Given the description of an element on the screen output the (x, y) to click on. 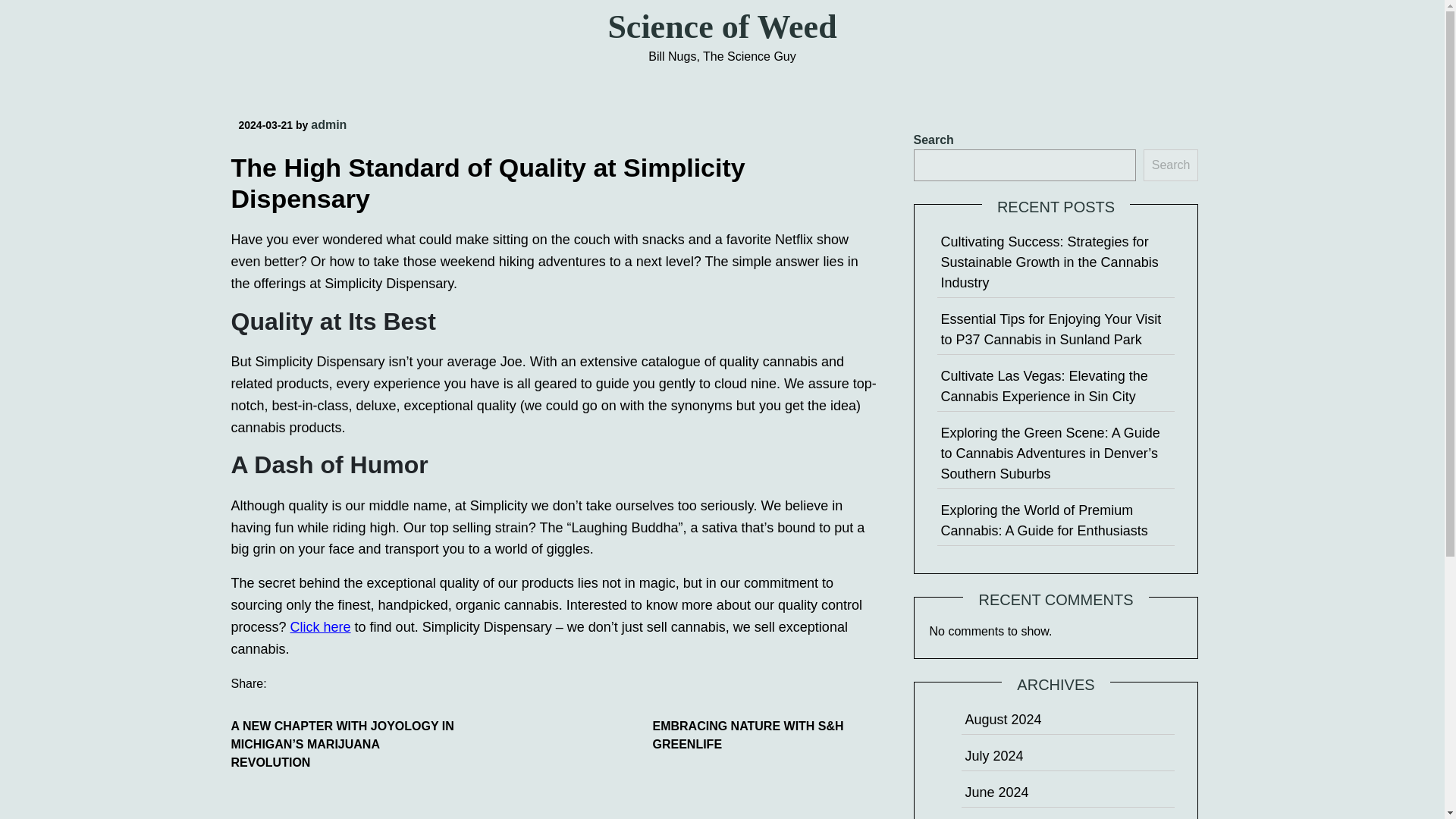
Click here (319, 626)
August 2024 (1002, 719)
June 2024 (995, 792)
Posts by admin (328, 124)
Science of Weed (721, 26)
admin (328, 124)
Search (1170, 164)
July 2024 (993, 755)
